Given the description of an element on the screen output the (x, y) to click on. 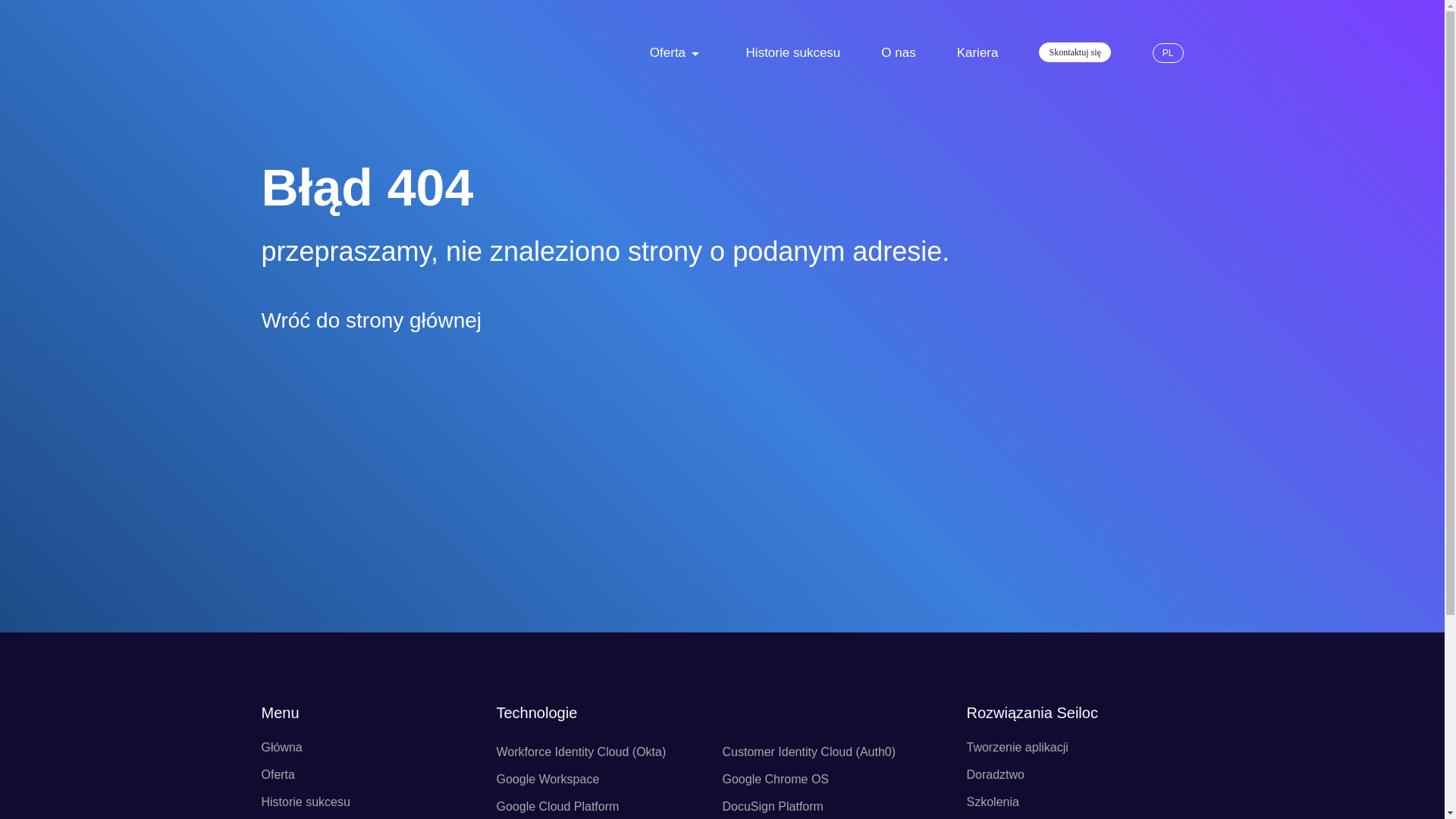
PL (1168, 53)
Historie sukcesu (793, 52)
PL (1168, 53)
Oferta (667, 52)
